Given the description of an element on the screen output the (x, y) to click on. 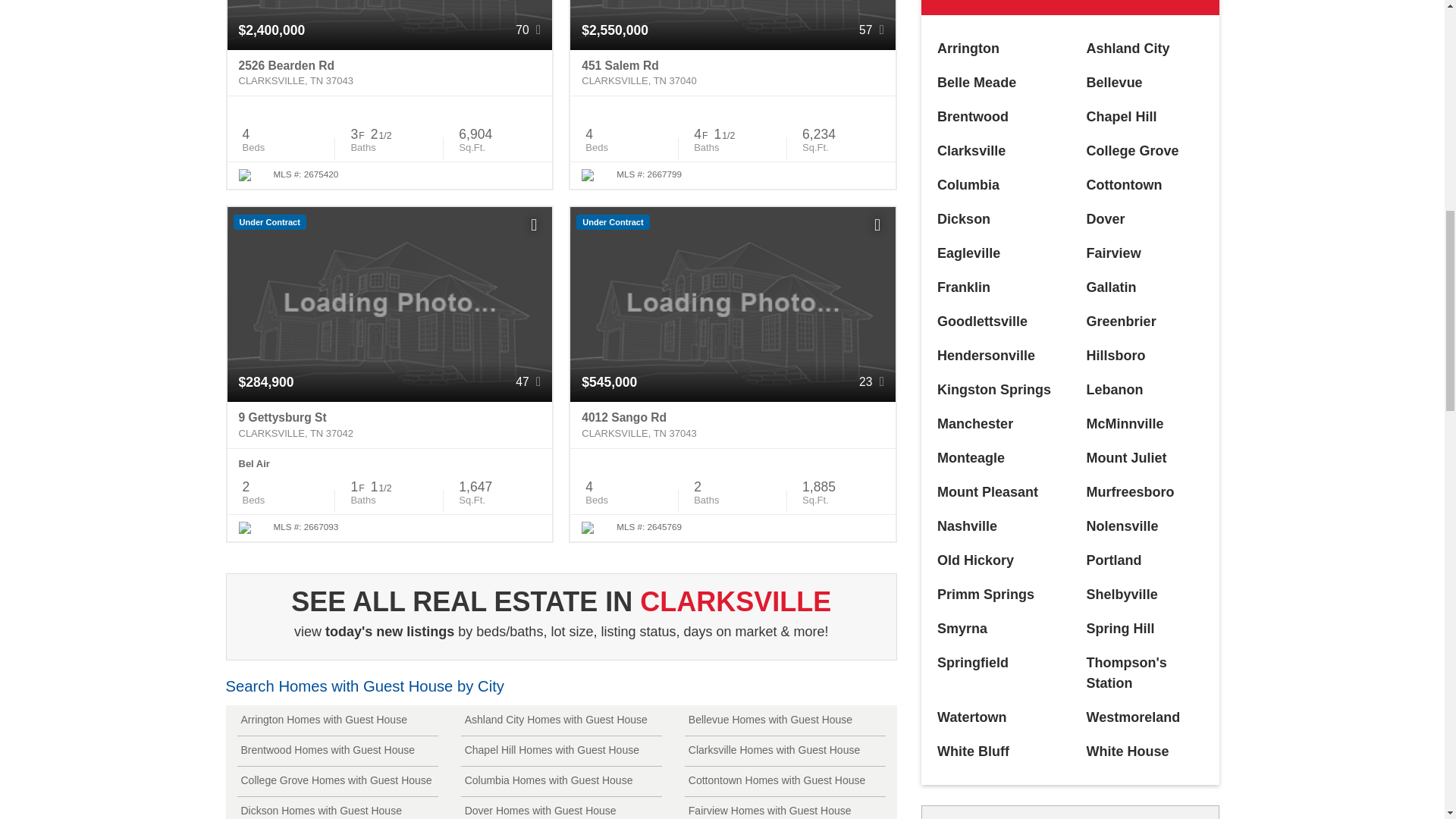
View Ashland City Homes with Guest House (561, 720)
451 Salem Rd Clarksville,  TN 37040 (732, 73)
4012 Sango Rd Clarksville,  TN 37043 (732, 425)
9 Gettysburg St Clarksville,  TN 37042 (390, 425)
2526 Bearden Rd Clarksville,  TN 37043 (390, 73)
View Arrington Homes with Guest House (336, 720)
View Bellevue Homes with Guest House (784, 720)
